Given the description of an element on the screen output the (x, y) to click on. 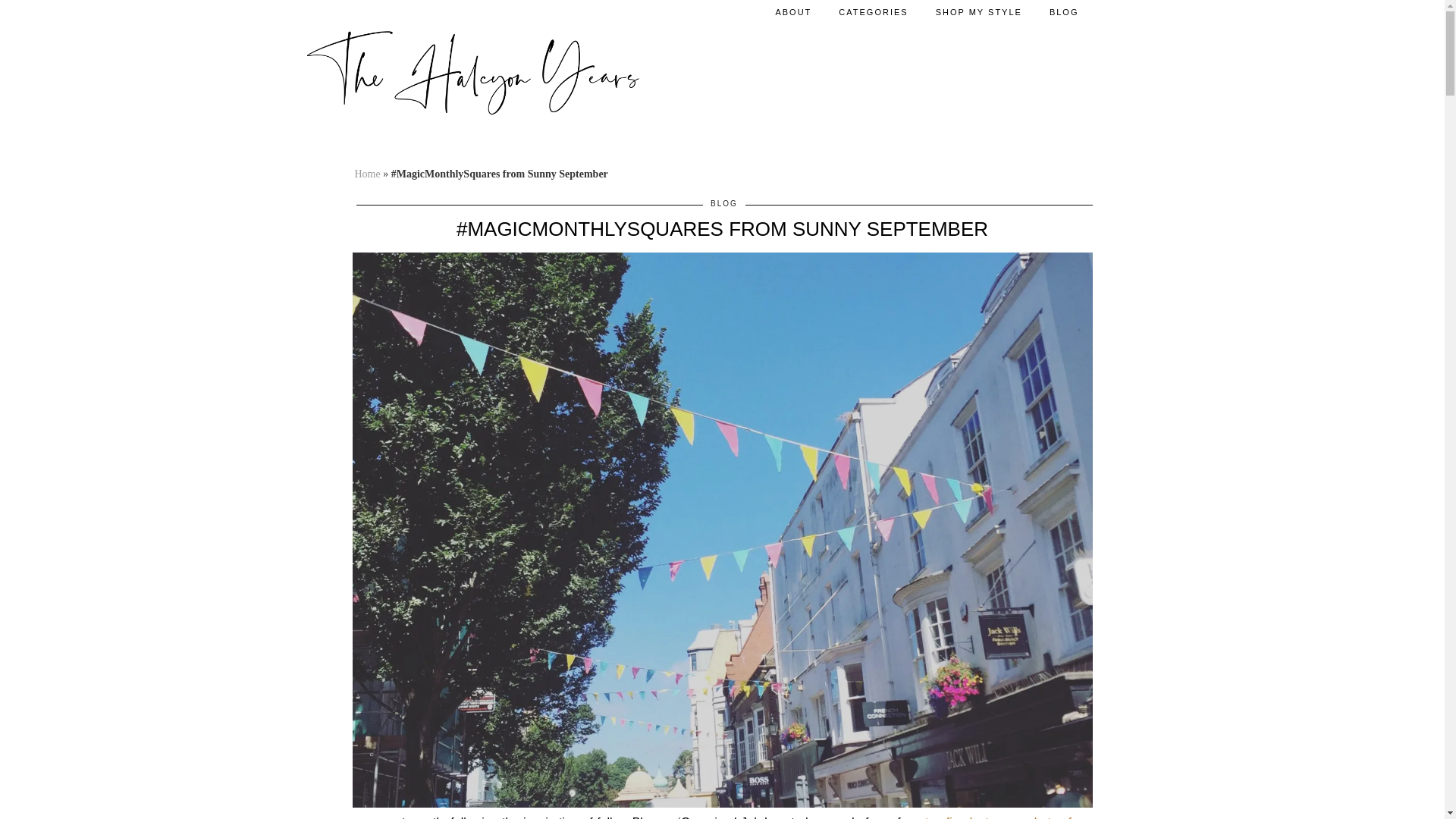
SHOP MY STYLE (978, 12)
The Halcyon Years (472, 71)
ABOUT (793, 12)
CATEGORIES (873, 12)
BLOG (1064, 12)
